Given the description of an element on the screen output the (x, y) to click on. 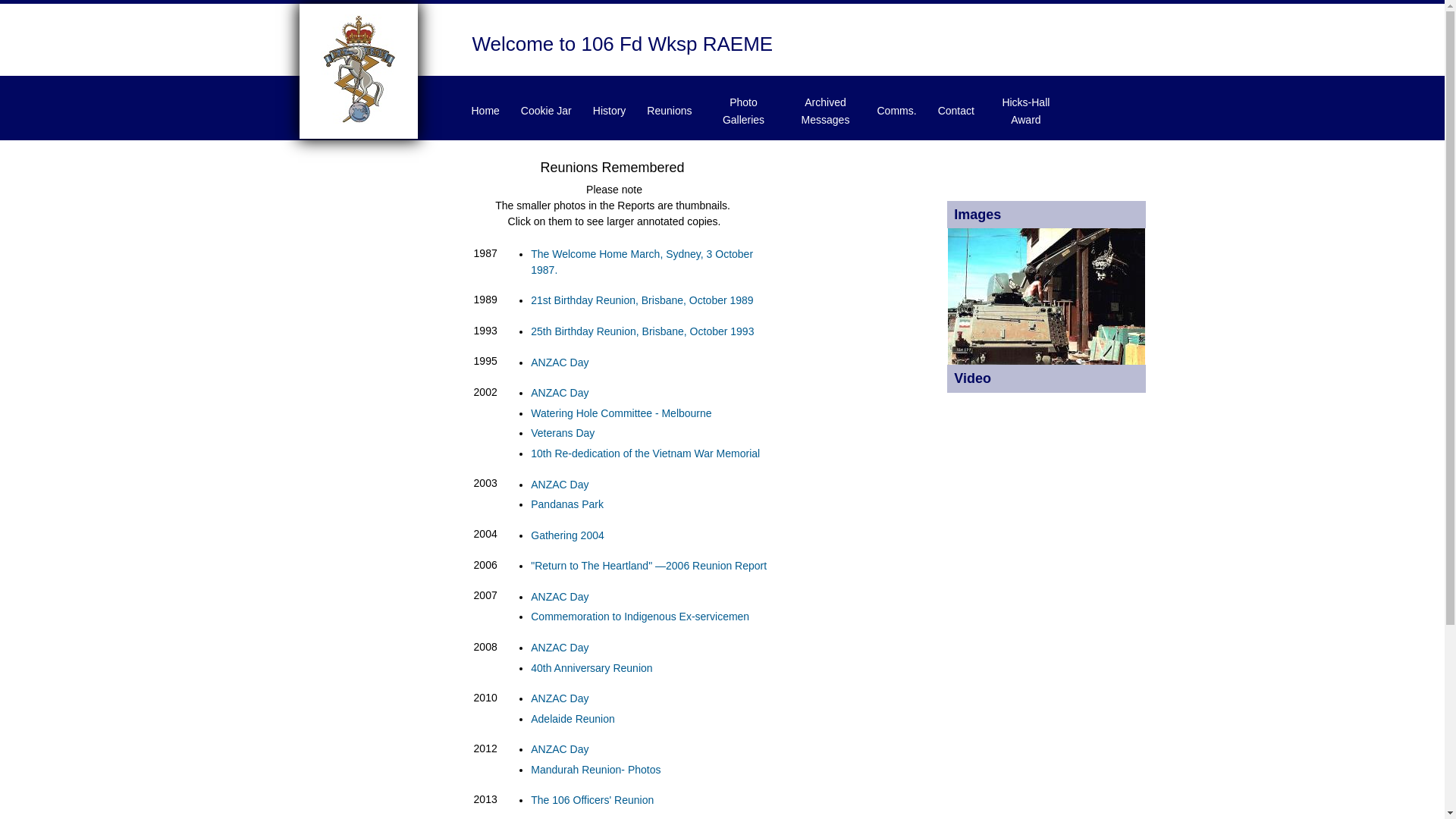
ANZAC Day Element type: text (559, 484)
Gathering 2004 Element type: text (567, 535)
21st Birthday Reunion, Brisbane, October 1989 Element type: text (641, 300)
Home Element type: hover (357, 119)
25th Birthday Reunion, Brisbane, October 1993 Element type: text (641, 331)
Contact Element type: text (956, 110)
Pandanas Park Element type: text (566, 504)
Veterans Day Element type: text (562, 432)
ANZAC Day Element type: text (559, 749)
ANZAC Day Element type: text (559, 362)
Mandurah Reunion- Photos Element type: text (595, 769)
Watering Hole Committee - Melbourne Element type: text (620, 413)
The Welcome Home March, Sydney, 3 October 1987. Element type: text (641, 261)
ANZAC Day Element type: text (559, 596)
Commemoration to Indigenous Ex-servicemen Element type: text (639, 616)
ANZAC Day Element type: text (559, 698)
40th Anniversary Reunion Element type: text (591, 668)
The 106 Officers' Reunion Element type: text (591, 799)
Hicks-Hall Award Element type: text (1025, 111)
Adelaide Reunion Element type: text (572, 718)
ANZAC Day Element type: text (559, 392)
ANZAC Day Element type: text (559, 647)
Home Element type: text (485, 110)
10th Re-dedication of the Vietnam War Memorial Element type: text (644, 453)
